Given the description of an element on the screen output the (x, y) to click on. 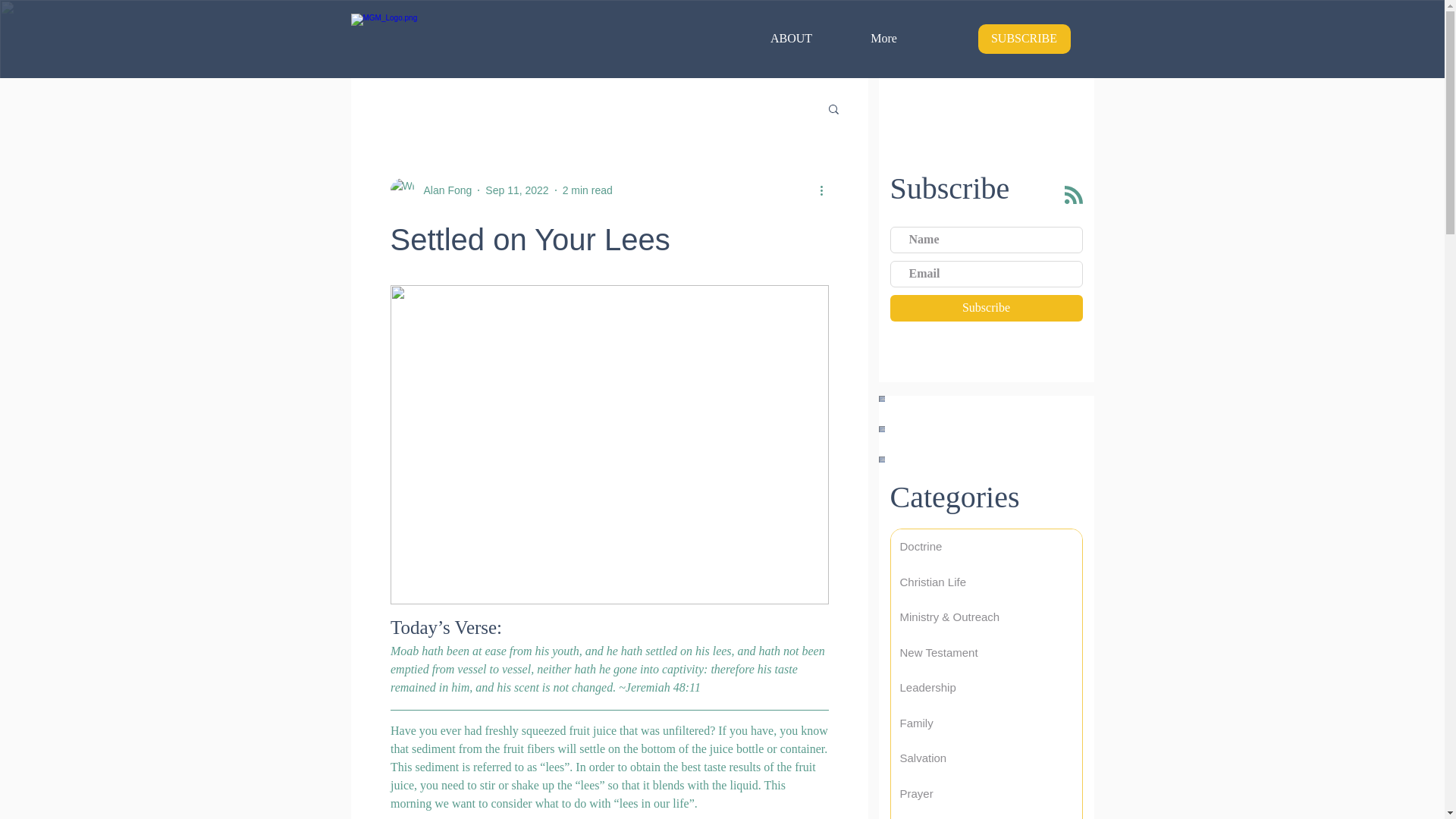
Family (985, 723)
Alan Fong (442, 189)
Salvation (985, 758)
Doctrine (985, 547)
Subscribe (986, 307)
New Testament (985, 652)
ABOUT (790, 38)
Sep 11, 2022 (516, 189)
Leadership (985, 687)
2 min read (587, 189)
Spiritual Growth (985, 815)
SUBSCRIBE (1024, 39)
Christian Life (985, 581)
Prayer (985, 794)
